Given the description of an element on the screen output the (x, y) to click on. 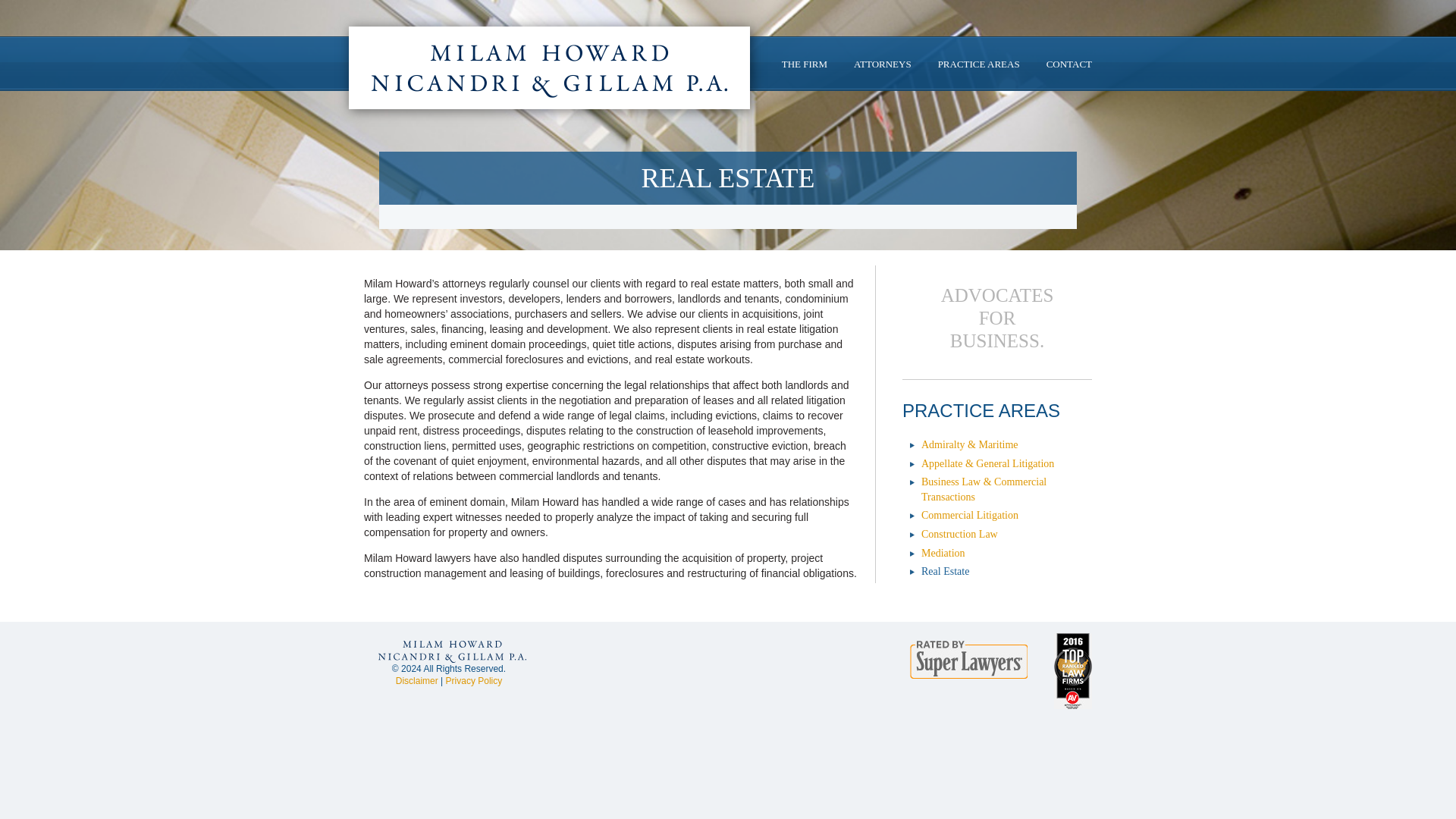
Real Estate (945, 571)
ATTORNEYS (882, 63)
PRACTICE AREAS (978, 63)
Construction Law (959, 533)
Privacy Policy (473, 680)
Super Lawyers (968, 659)
Disclaimer (417, 680)
Mediation (943, 552)
Commercial Litigation (969, 514)
